Given the description of an element on the screen output the (x, y) to click on. 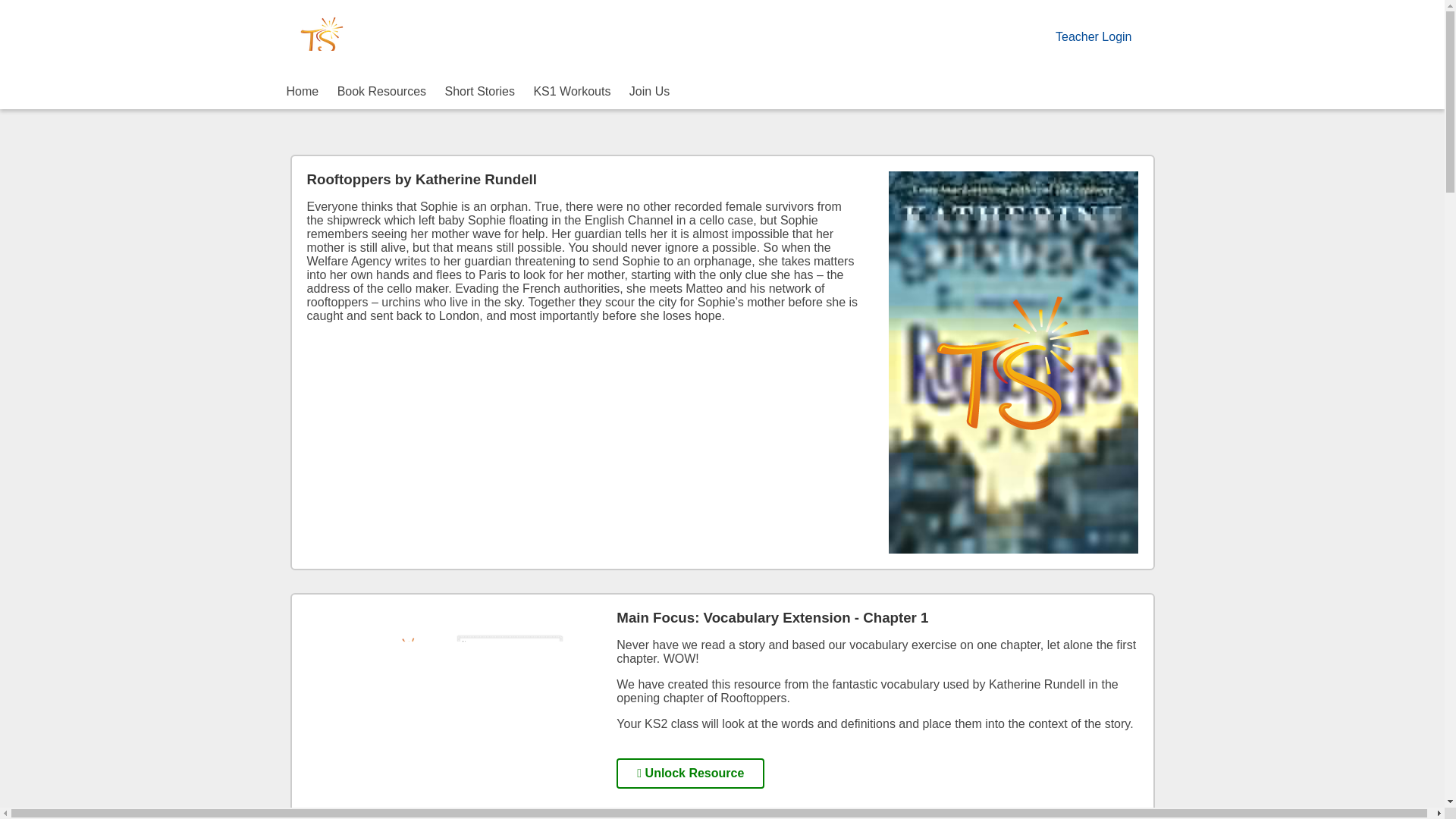
KS1 Workouts (571, 91)
Teacher Login (1093, 37)
Home (302, 91)
Join Us (648, 91)
Book Resources (381, 91)
Short Stories (478, 91)
Unlock Resource (689, 773)
